Given the description of an element on the screen output the (x, y) to click on. 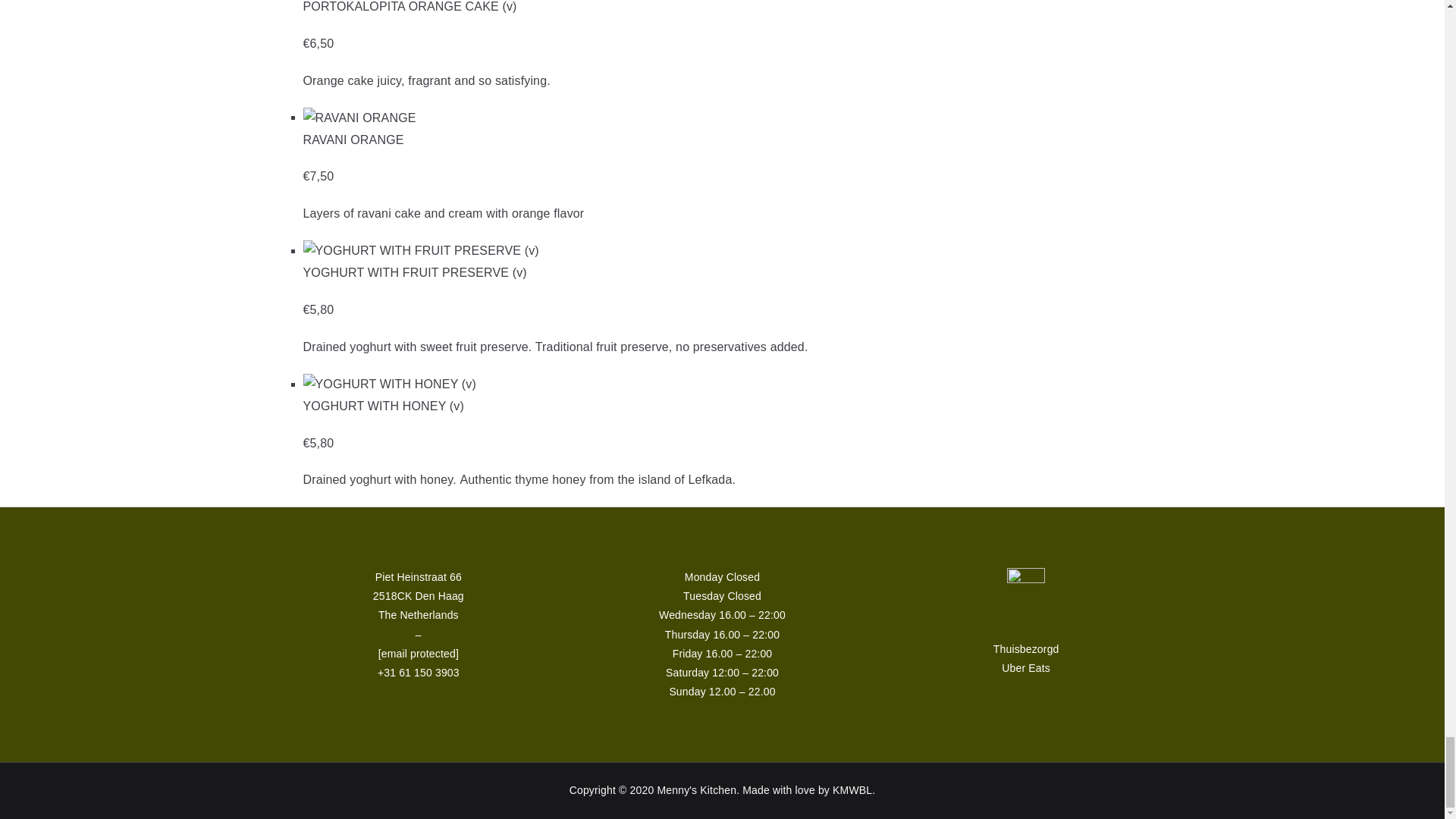
Menny's Kitchen (696, 789)
KMWBL (852, 789)
Uber Eats (1025, 667)
Thuisbezorgd (1025, 648)
